Given the description of an element on the screen output the (x, y) to click on. 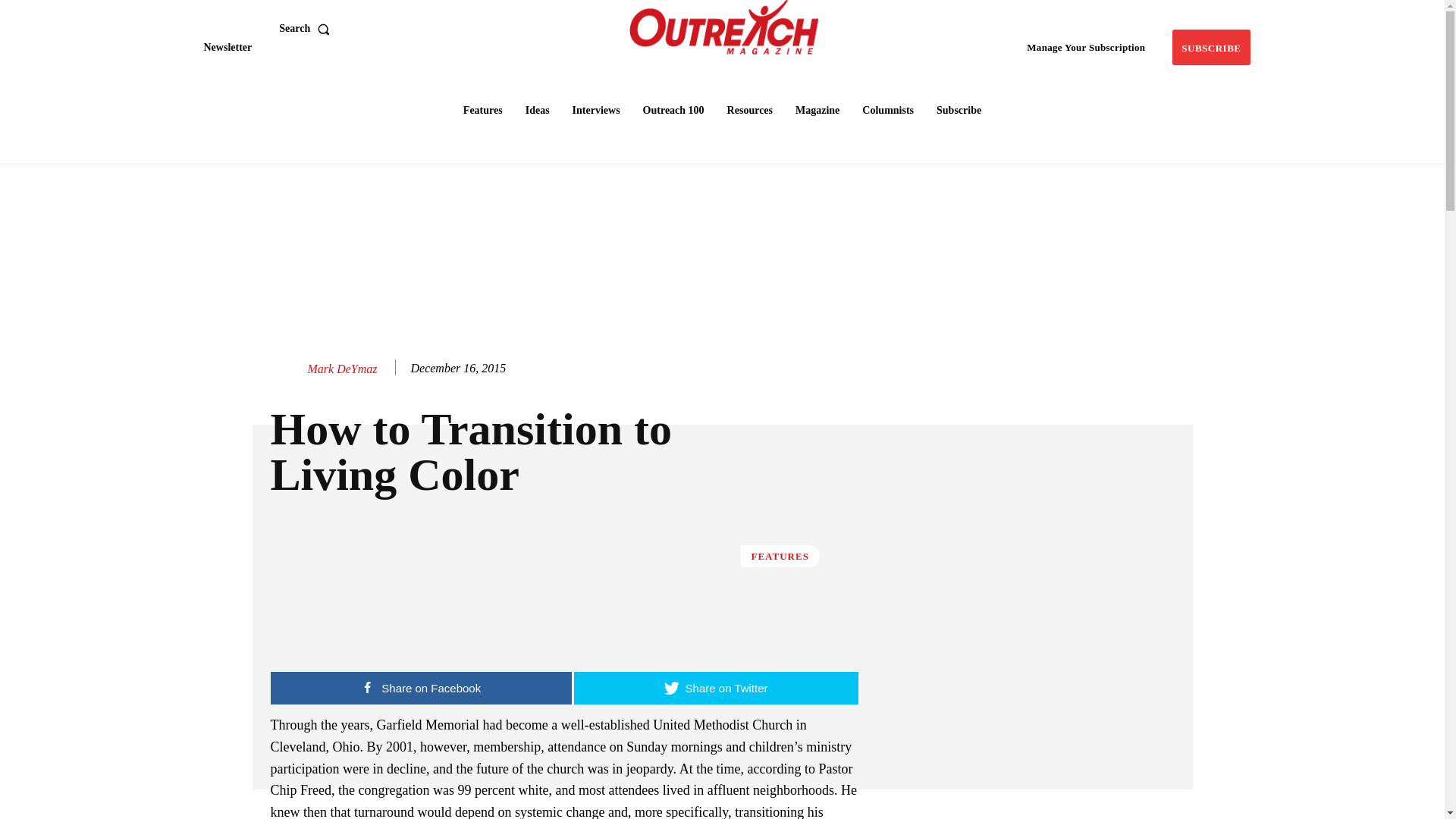
Manage Your Subscription (1085, 47)
Subscribe (1210, 47)
Newsletter (226, 47)
